Given the description of an element on the screen output the (x, y) to click on. 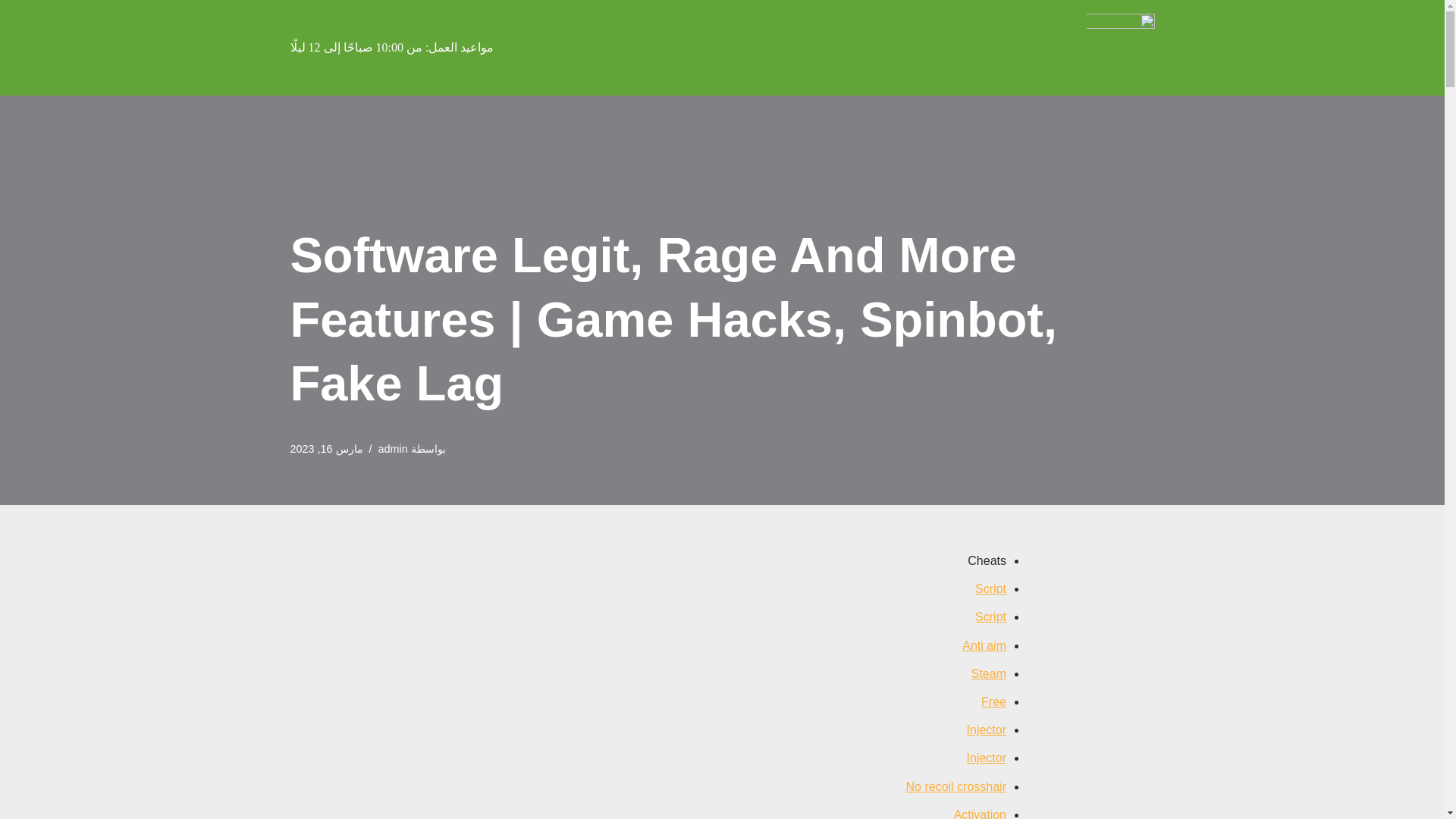
No recoil crosshair (955, 785)
Script (990, 616)
Anti aim (984, 645)
admin (392, 449)
Steam (988, 673)
Injector (986, 729)
Activation (979, 813)
Free (993, 701)
Injector (986, 757)
Script (990, 588)
